Given the description of an element on the screen output the (x, y) to click on. 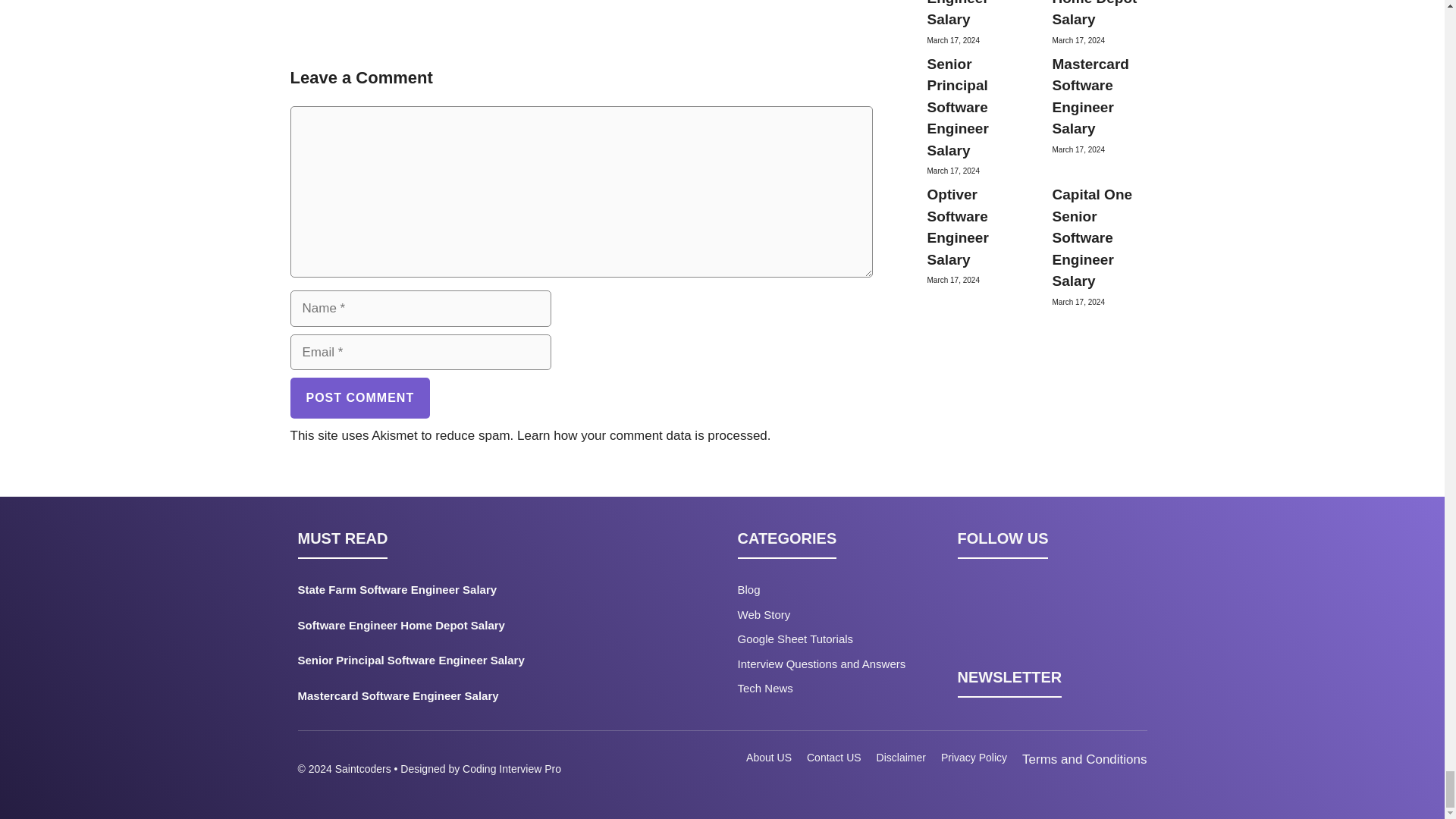
State Farm Software Engineer Salary (450, 593)
Post Comment (359, 397)
Software Engineer Home Depot Salary (450, 629)
Mastercard Software Engineer Salary (450, 699)
Senior Principal Software Engineer Salary (450, 663)
